Given the description of an element on the screen output the (x, y) to click on. 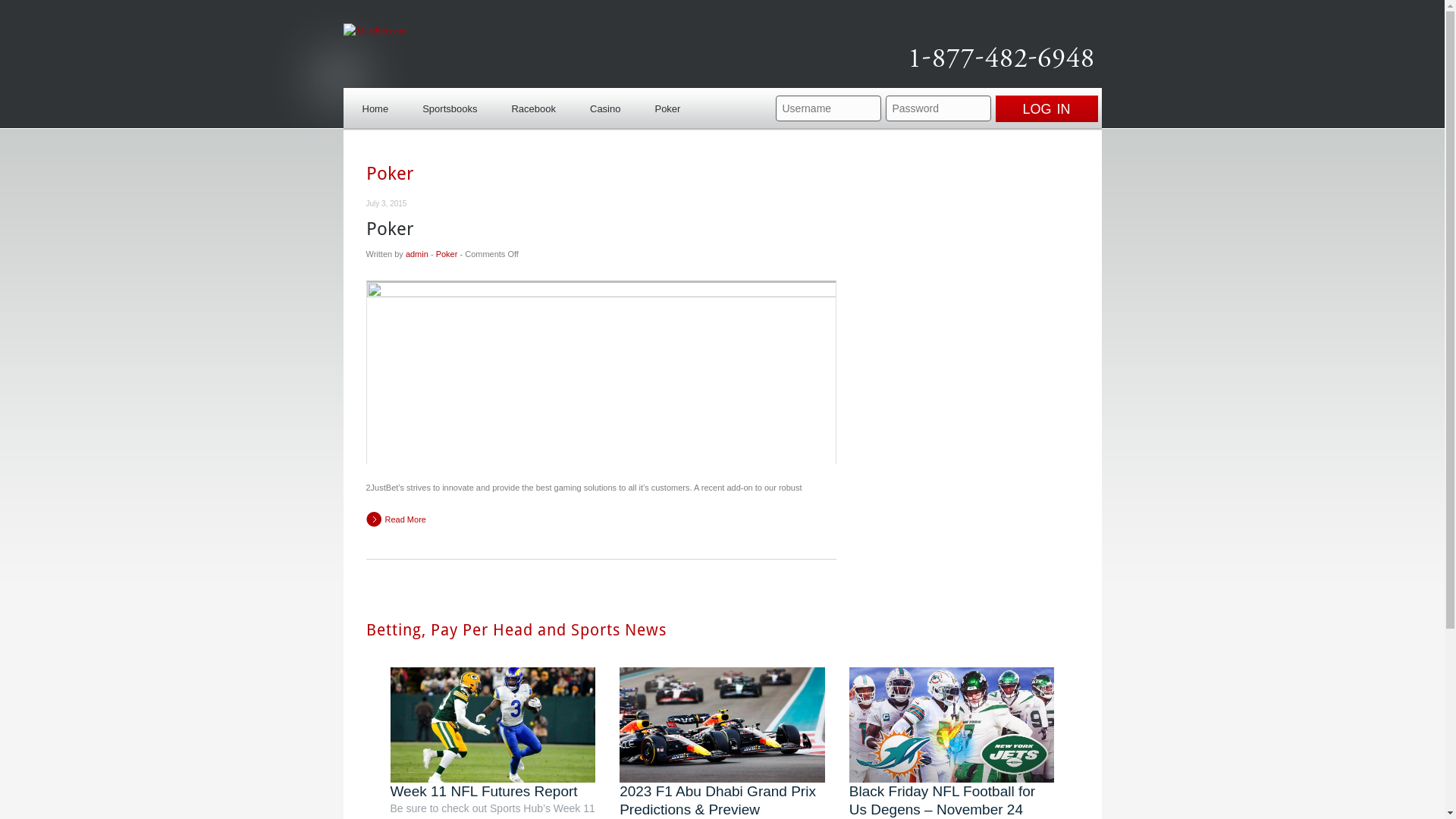
Poker Element type: text (667, 106)
Sportsbooks Element type: text (449, 106)
Read More Element type: text (395, 519)
Racebook Element type: text (533, 106)
Home Element type: text (374, 106)
admin Element type: text (416, 253)
Poker Element type: text (389, 228)
LOG IN Element type: text (1045, 108)
Poker Element type: text (447, 253)
Casino Element type: text (604, 106)
